Given the description of an element on the screen output the (x, y) to click on. 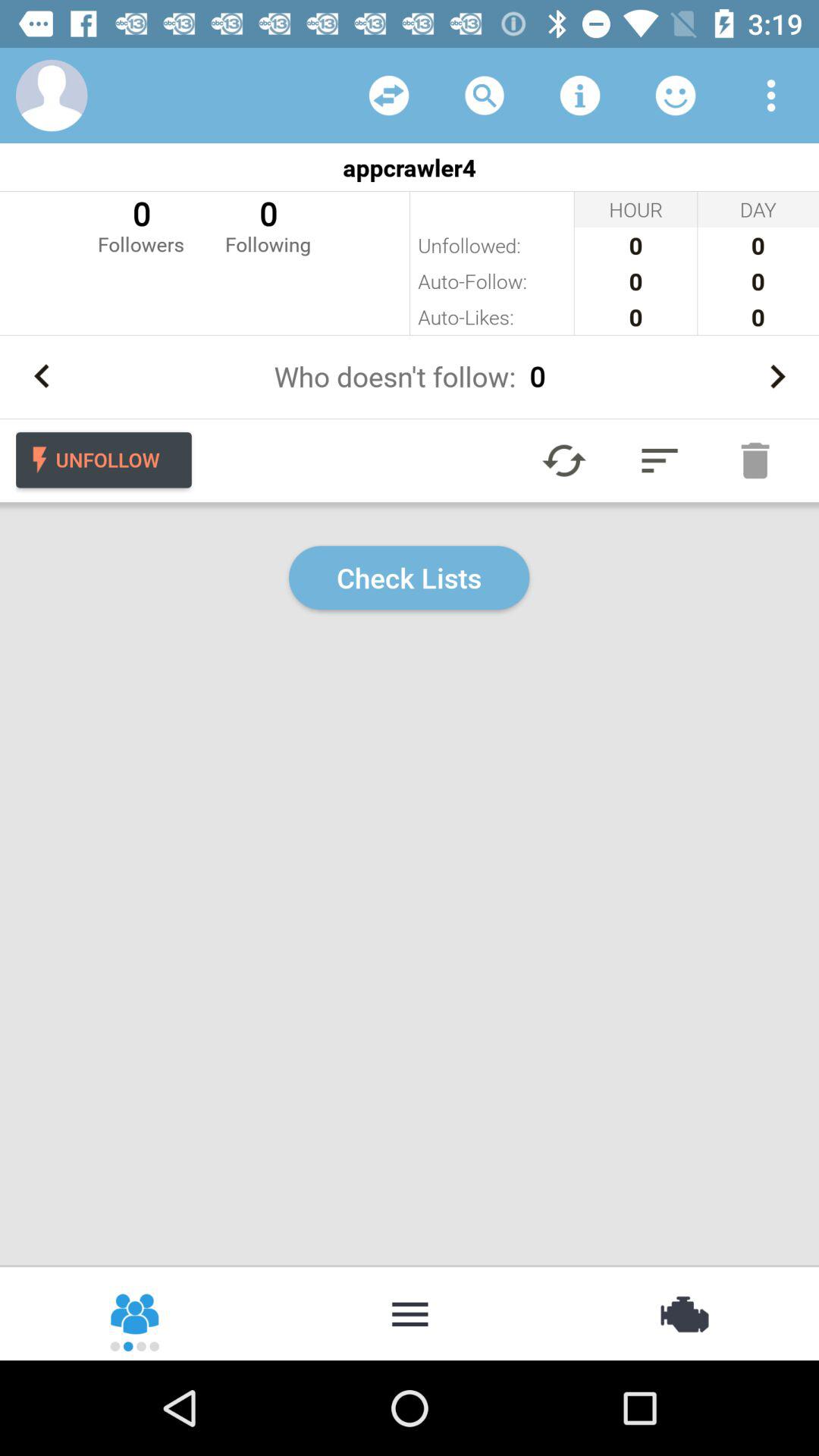
go to search (484, 95)
